Given the description of an element on the screen output the (x, y) to click on. 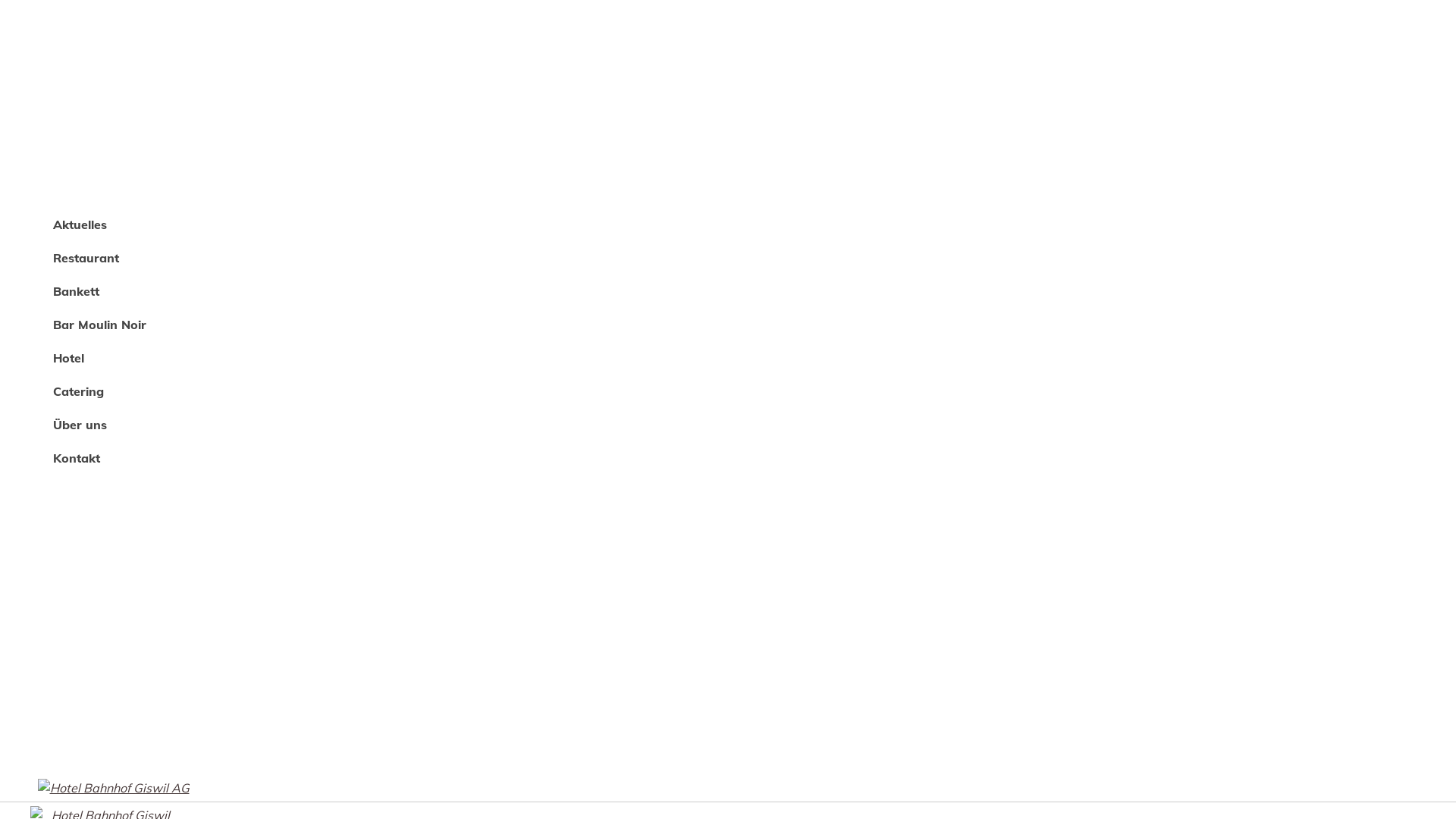
Catering Element type: text (284, 387)
Bankett Element type: text (284, 287)
Aktuelles Element type: text (284, 220)
Bar Moulin Noir Element type: text (284, 320)
Hotel Element type: text (284, 353)
Kontakt Element type: text (284, 453)
Restaurant Element type: text (284, 253)
